Given the description of an element on the screen output the (x, y) to click on. 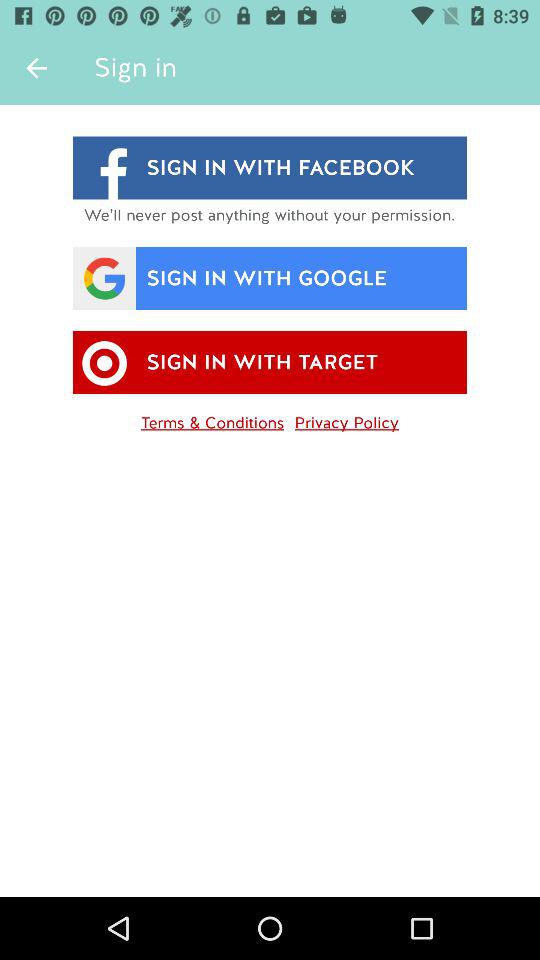
turn off the terms & conditions item (212, 419)
